Given the description of an element on the screen output the (x, y) to click on. 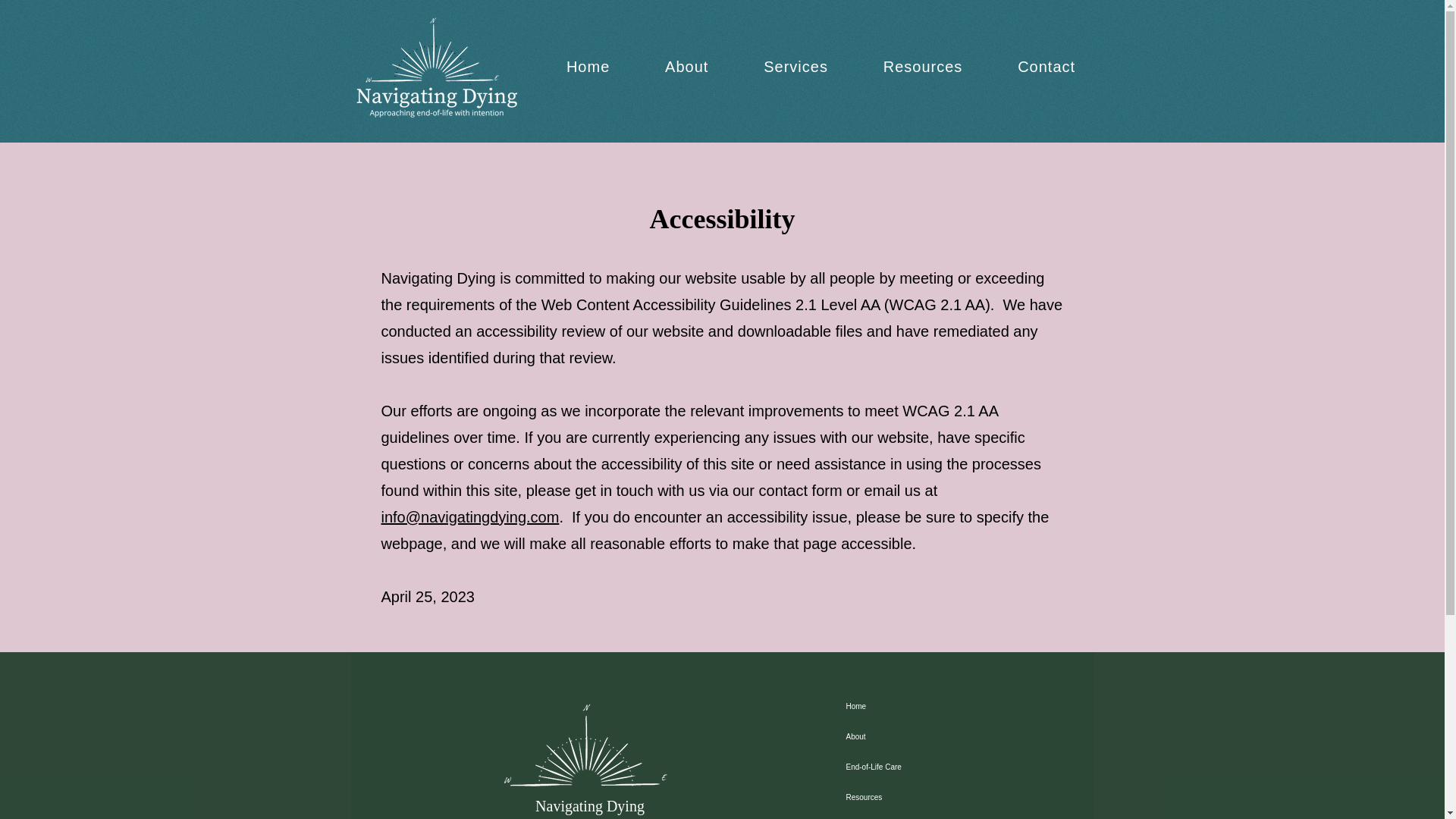
Resources (923, 66)
FAQ (907, 816)
End-of-Life Care (907, 767)
About (686, 66)
Home (907, 706)
Contact (1046, 66)
About (907, 736)
Home (587, 66)
Resources (907, 797)
